Given the description of an element on the screen output the (x, y) to click on. 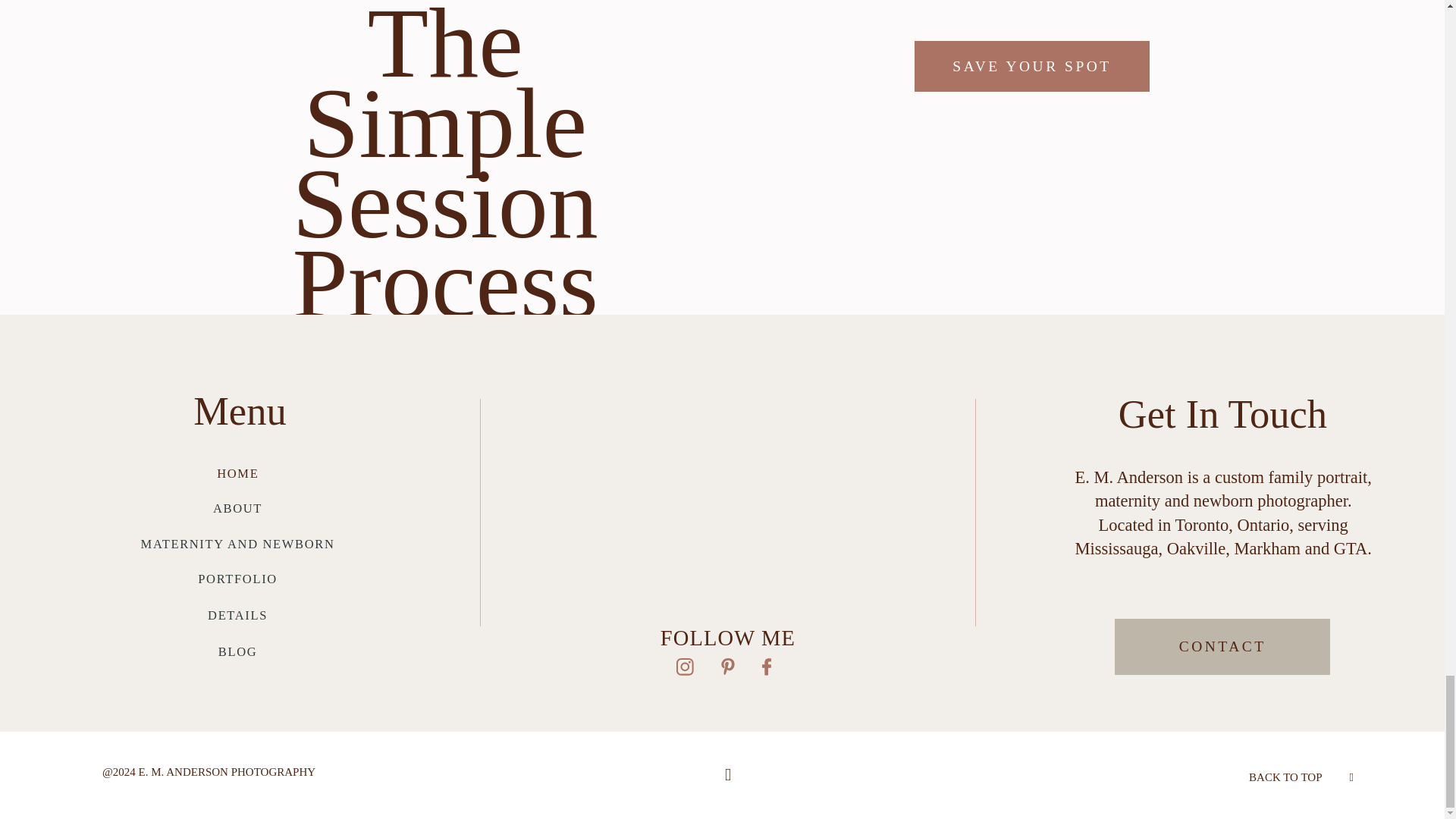
ABOUT (237, 508)
CONTACT (1222, 647)
DETAILS (237, 615)
BACK TO TOP (1301, 775)
BLOG (237, 651)
SAVE YOUR SPOT (1032, 65)
Mississauga (1116, 547)
HOME (237, 473)
Markham (1267, 547)
BACK TO TOP (1285, 776)
Oakville, (1200, 547)
PORTFOLIO (238, 578)
MATERNITY AND NEWBORN (237, 544)
